Given the description of an element on the screen output the (x, y) to click on. 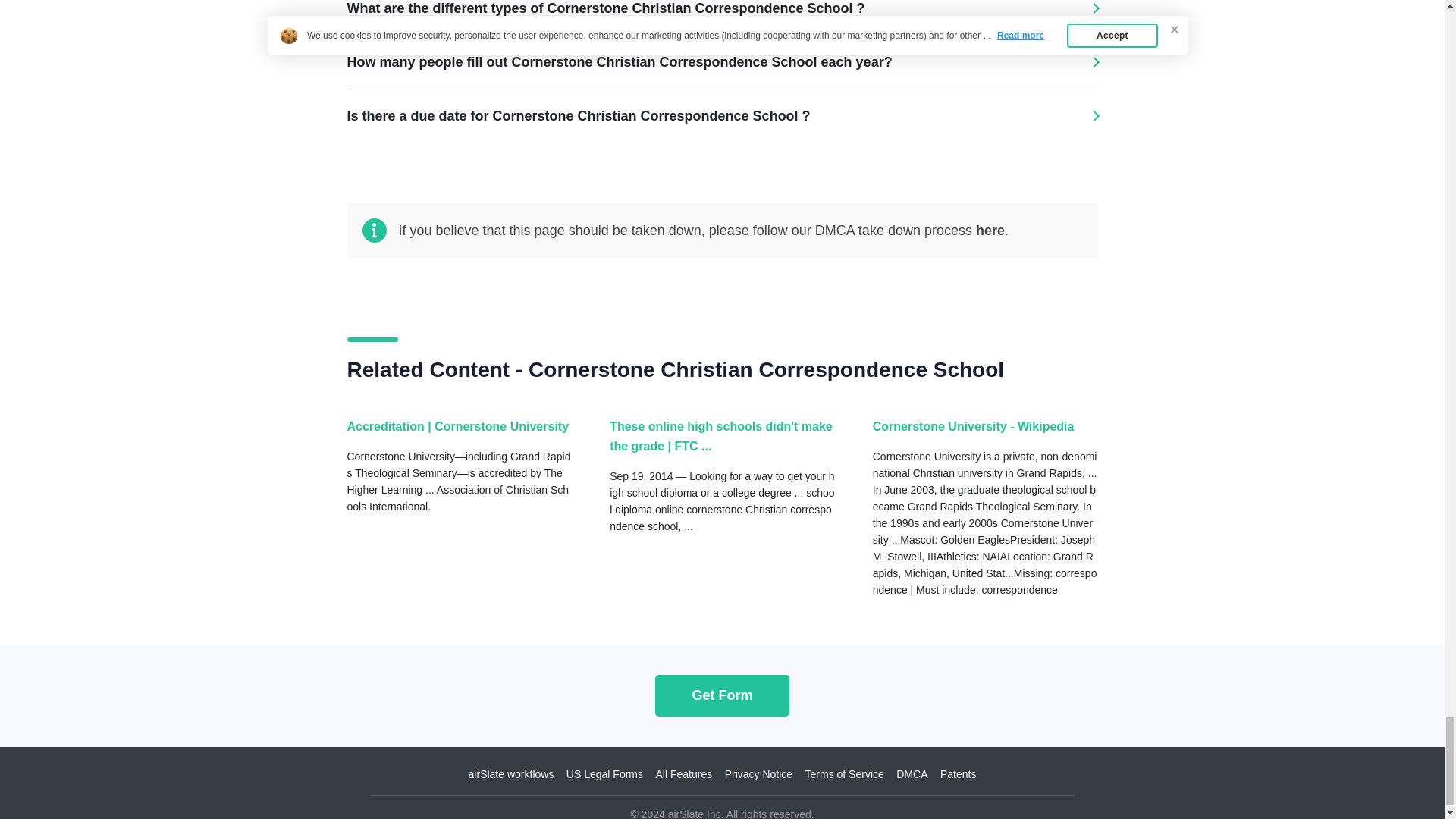
here (989, 230)
DMCA (911, 774)
US Legal Forms (604, 774)
Privacy Notice (758, 774)
Get Form (722, 695)
Patents (957, 774)
All Features (683, 774)
airSlate workflows (511, 774)
Terms of Service (844, 774)
